Given the description of an element on the screen output the (x, y) to click on. 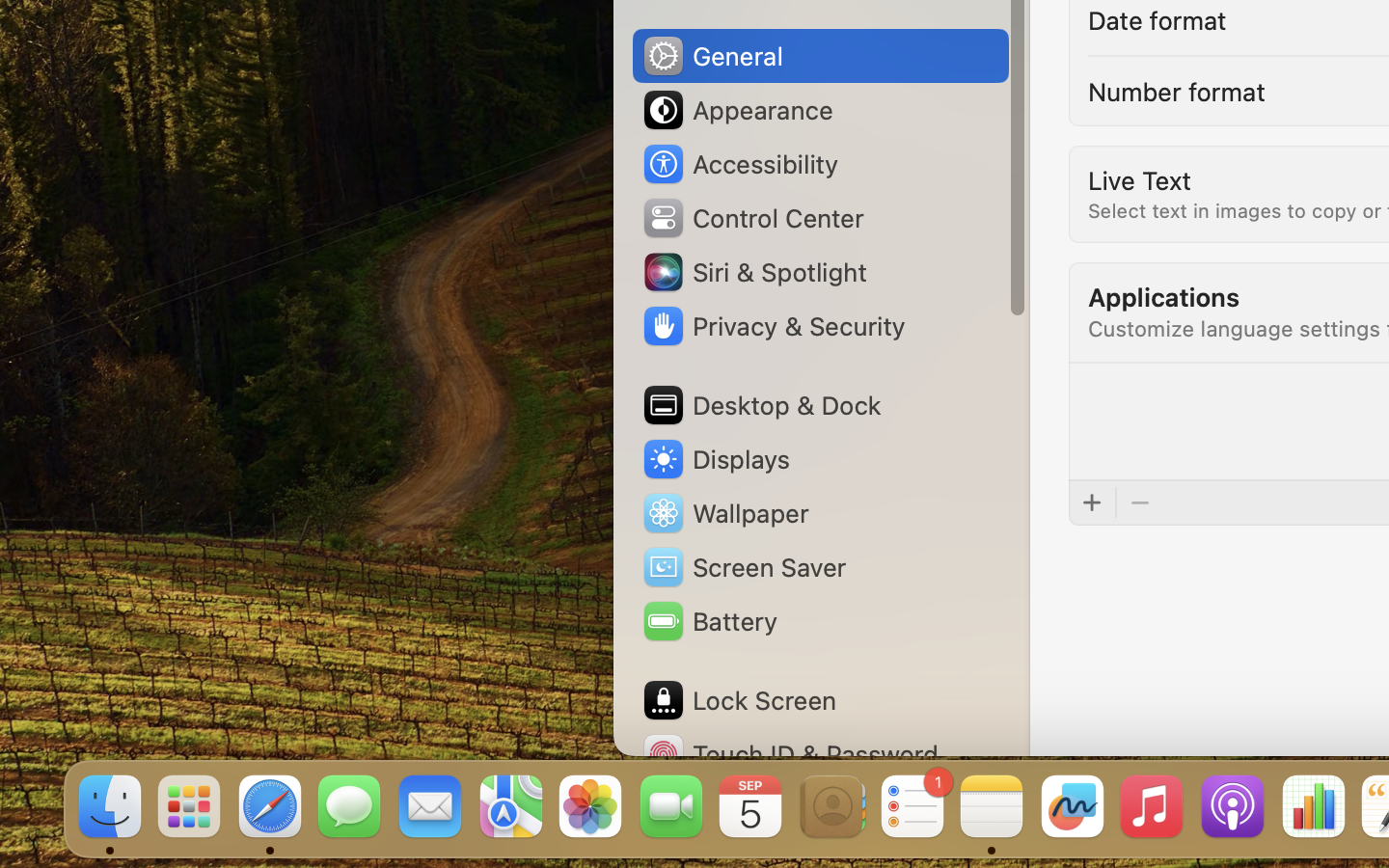
Displays Element type: AXStaticText (715, 458)
Touch ID & Password Element type: AXStaticText (789, 754)
Date format Element type: AXStaticText (1157, 18)
Control Center Element type: AXStaticText (752, 217)
Siri & Spotlight Element type: AXStaticText (753, 271)
